Given the description of an element on the screen output the (x, y) to click on. 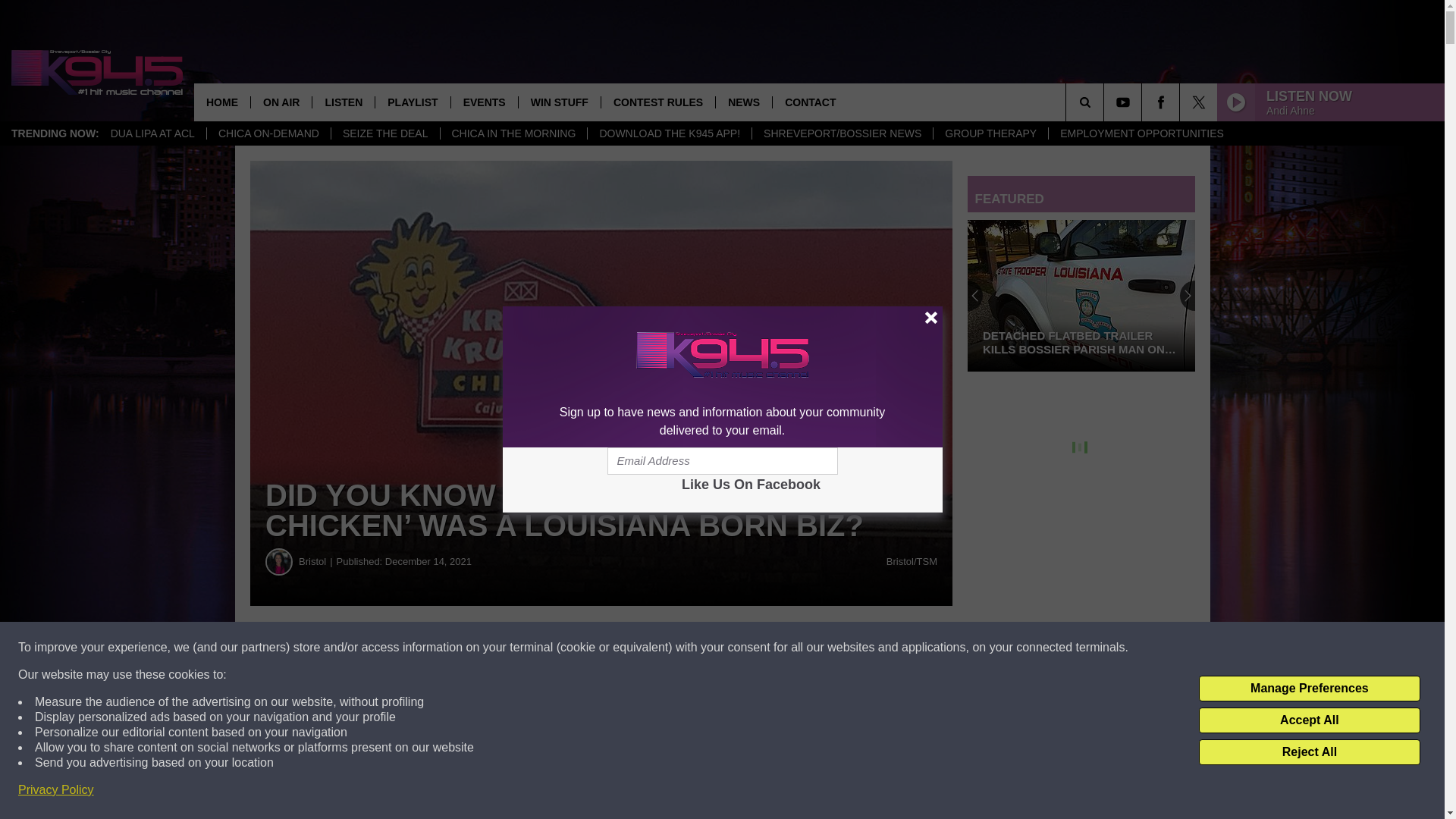
EVENTS (483, 102)
EMPLOYMENT OPPORTUNITIES (1141, 133)
Share on Twitter (741, 647)
LISTEN (342, 102)
Manage Preferences (1309, 688)
HOME (221, 102)
CHICA IN THE MORNING (513, 133)
DOWNLOAD THE K945 APP! (668, 133)
DUA LIPA AT ACL (152, 133)
Privacy Policy (55, 789)
Reject All (1309, 751)
SEARCH (1106, 102)
WIN STUFF (558, 102)
Accept All (1309, 720)
Email Address (722, 461)
